Given the description of an element on the screen output the (x, y) to click on. 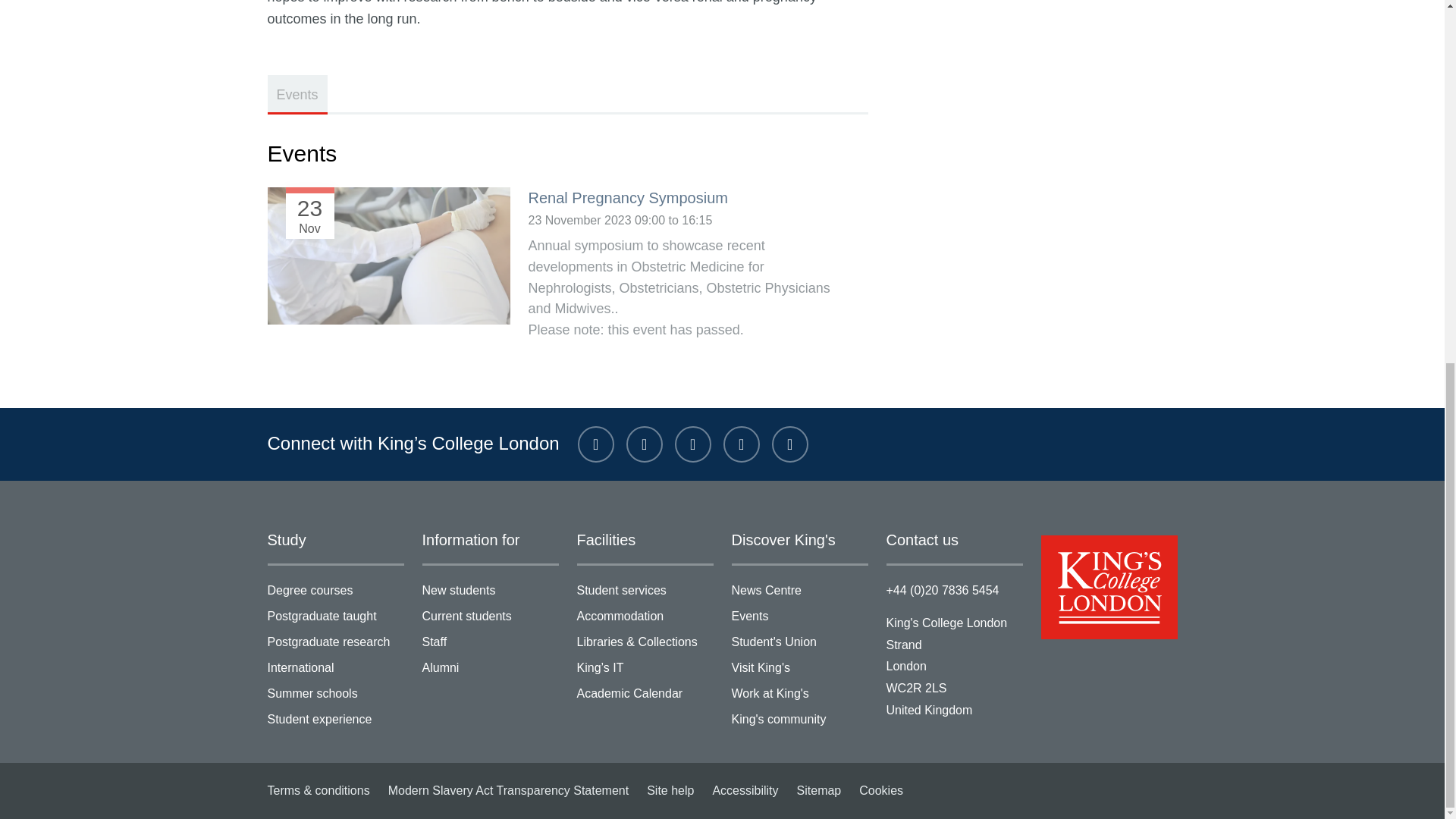
Renal Pregnancy Symposium (387, 285)
Renal Pregnancy Symposium (626, 197)
